Given the description of an element on the screen output the (x, y) to click on. 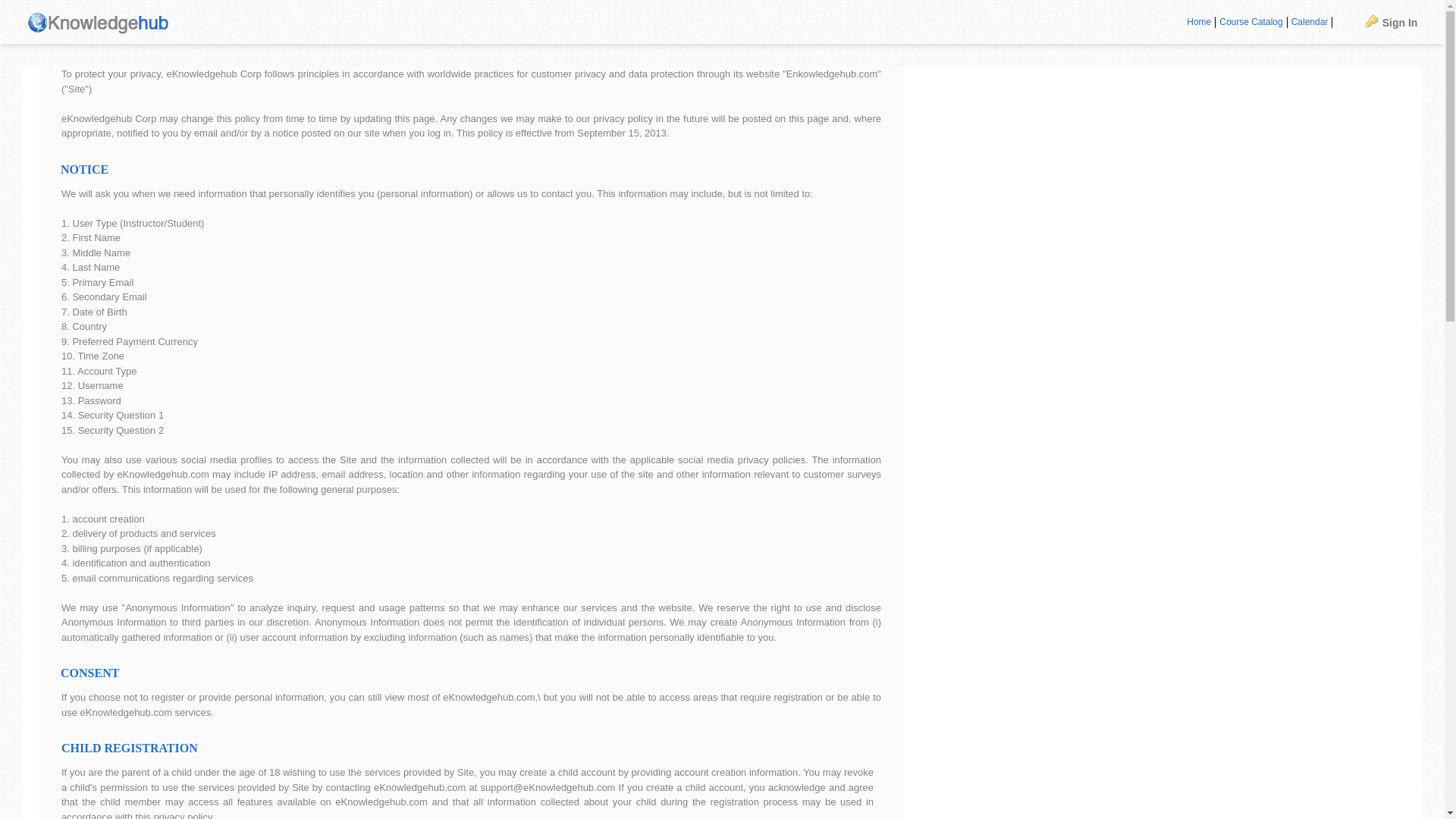
Sign In (1392, 20)
Home (1198, 22)
Course Catalog (1251, 22)
Go to eknowledgehub (98, 21)
Calendar (1310, 22)
